Given the description of an element on the screen output the (x, y) to click on. 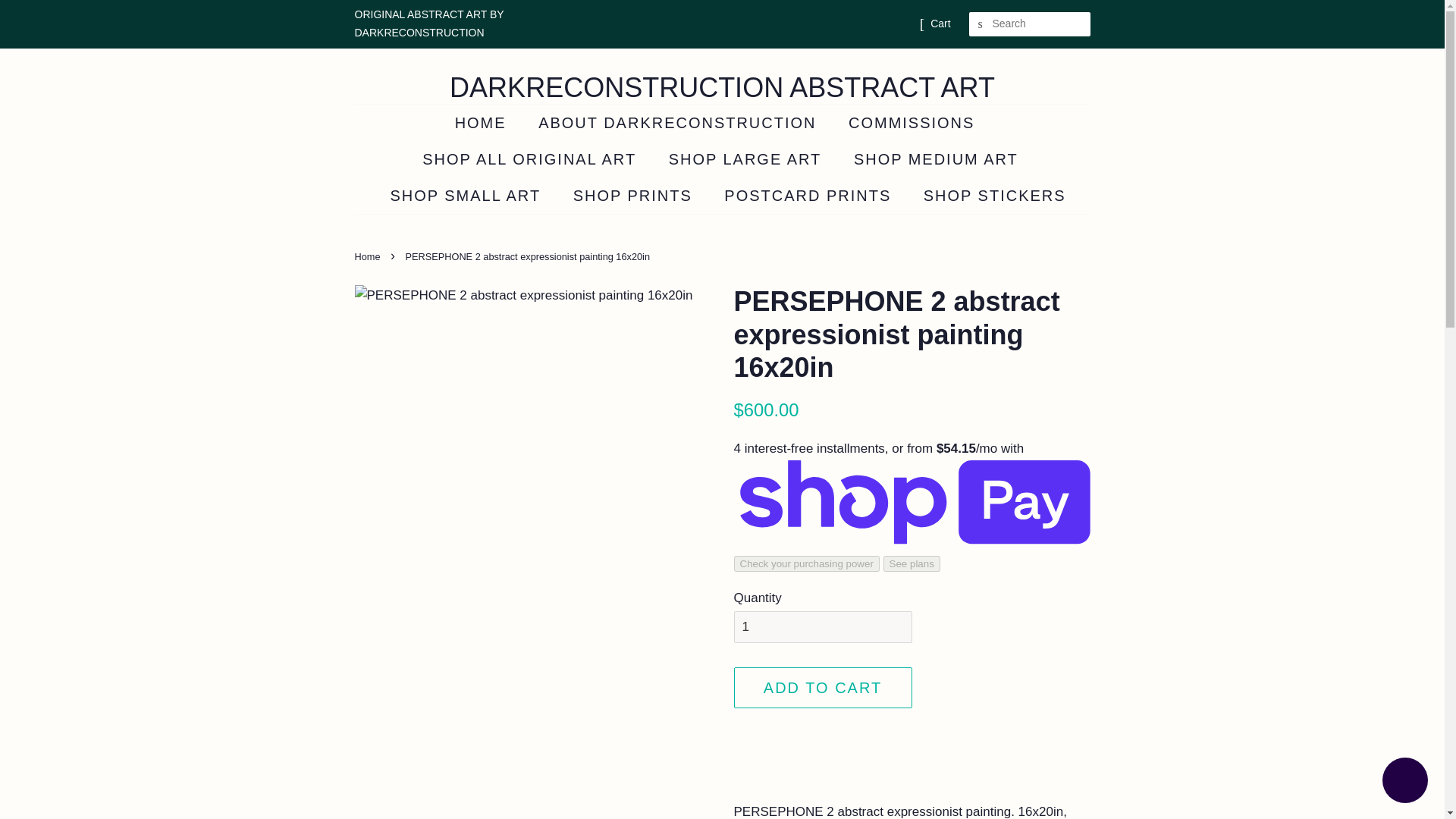
SHOP SMALL ART (467, 195)
Cart (940, 24)
SEARCH (980, 24)
SHOP ALL ORIGINAL ART (530, 158)
1 (822, 626)
SHOP MEDIUM ART (938, 158)
SHOP LARGE ART (747, 158)
Home (369, 256)
HOME (487, 122)
ABOUT DARKRECONSTRUCTION (679, 122)
